Given the description of an element on the screen output the (x, y) to click on. 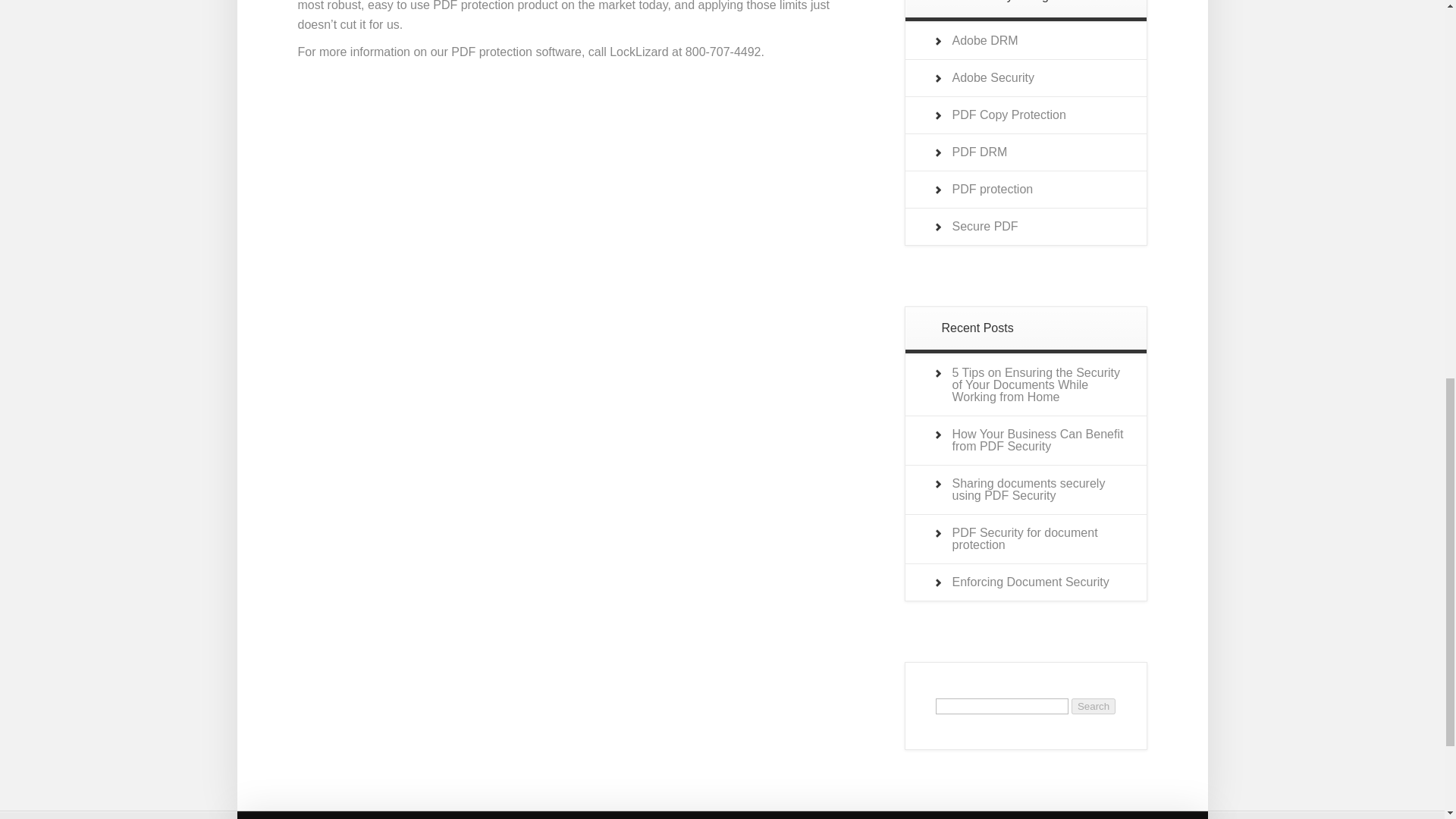
Adobe DRM (984, 40)
PDF Security for document protection (1024, 538)
Secure PDF (984, 226)
Search (328, 815)
How Your Business Can Benefit from PDF Security (1093, 706)
PDF protection (1038, 439)
Adobe Security (992, 188)
PDF DRM (993, 77)
